Given the description of an element on the screen output the (x, y) to click on. 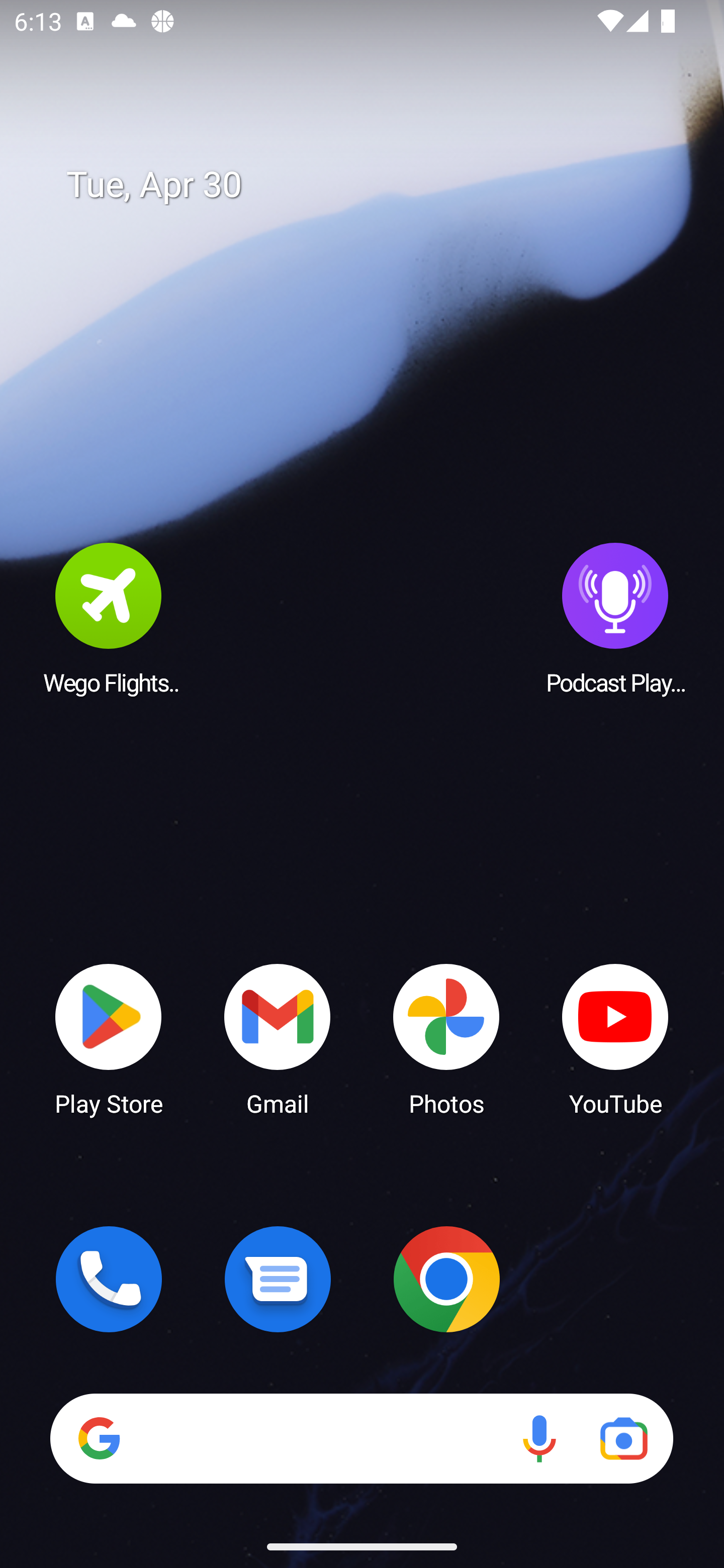
Tue, Apr 30 (375, 184)
Wego Flights & Hotels (108, 617)
Podcast Player (615, 617)
Play Store (108, 1038)
Gmail (277, 1038)
Photos (445, 1038)
YouTube (615, 1038)
Phone (108, 1279)
Messages (277, 1279)
Chrome (446, 1279)
Voice search (539, 1438)
Google Lens (623, 1438)
